Given the description of an element on the screen output the (x, y) to click on. 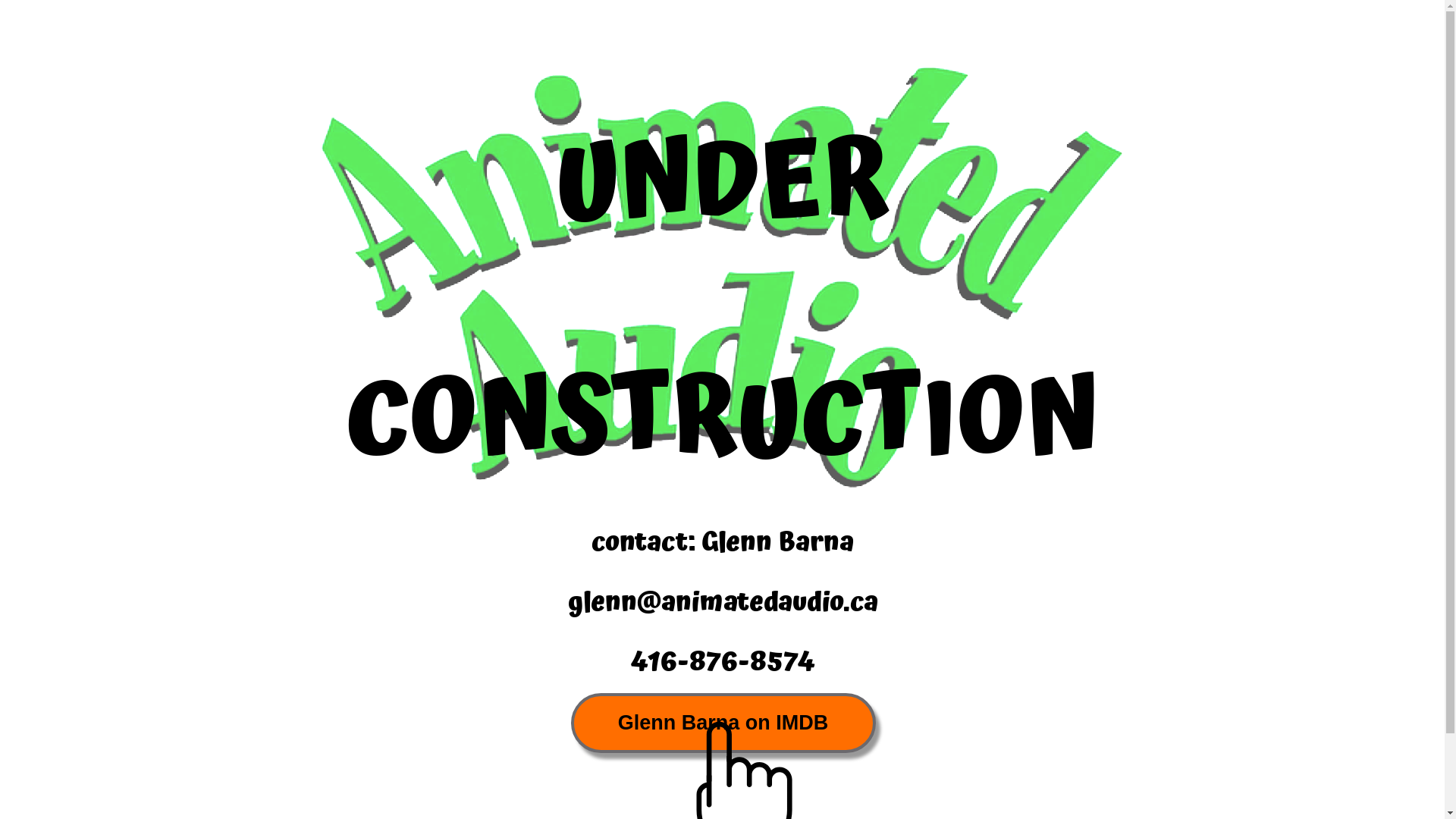
Glenn Barna on IMDB Element type: text (722, 723)
